Given the description of an element on the screen output the (x, y) to click on. 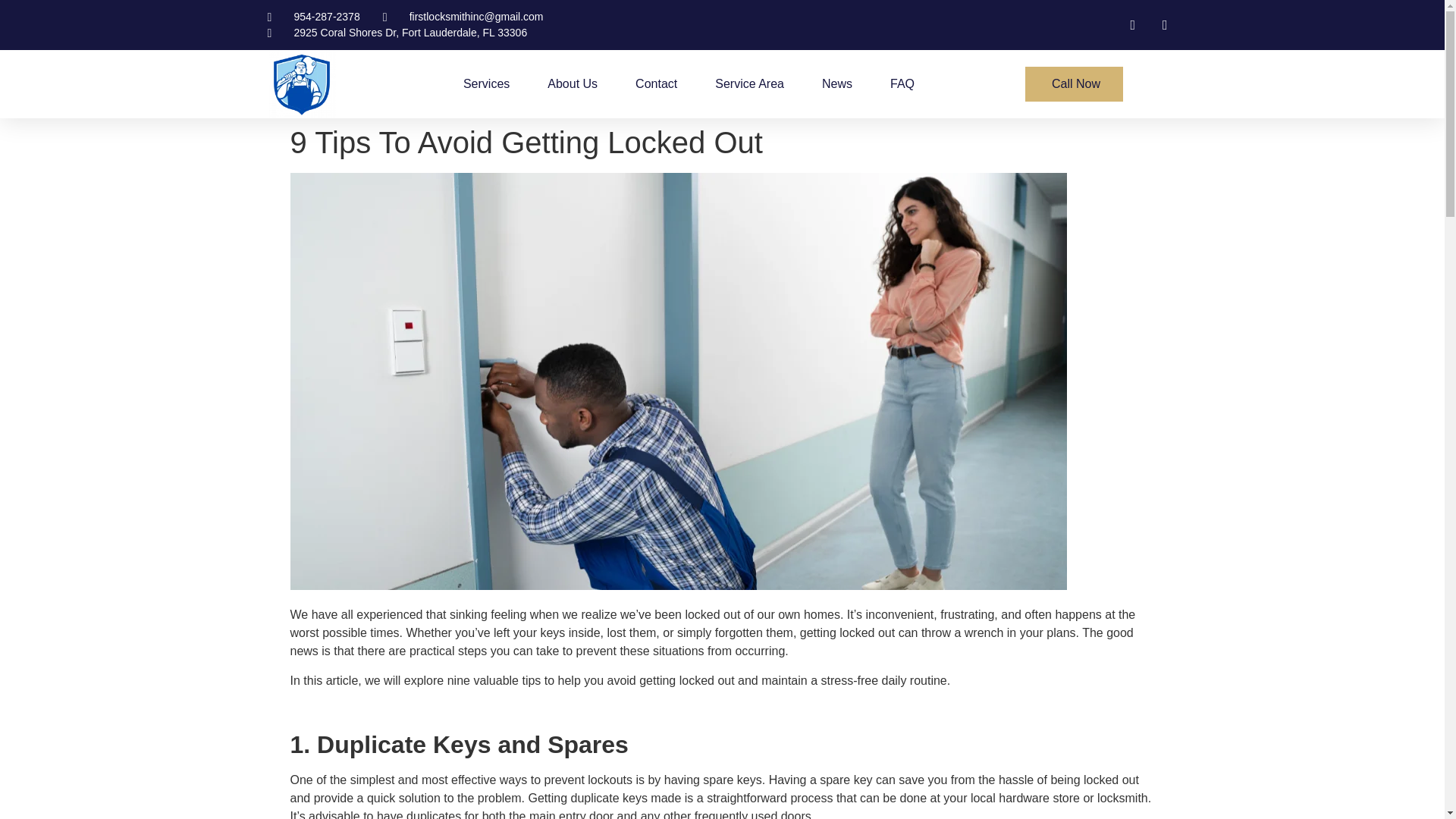
Service Area (749, 83)
About Us (571, 83)
Call Now (1073, 83)
954-287-2378 (312, 17)
Services (486, 83)
Contact (655, 83)
